Given the description of an element on the screen output the (x, y) to click on. 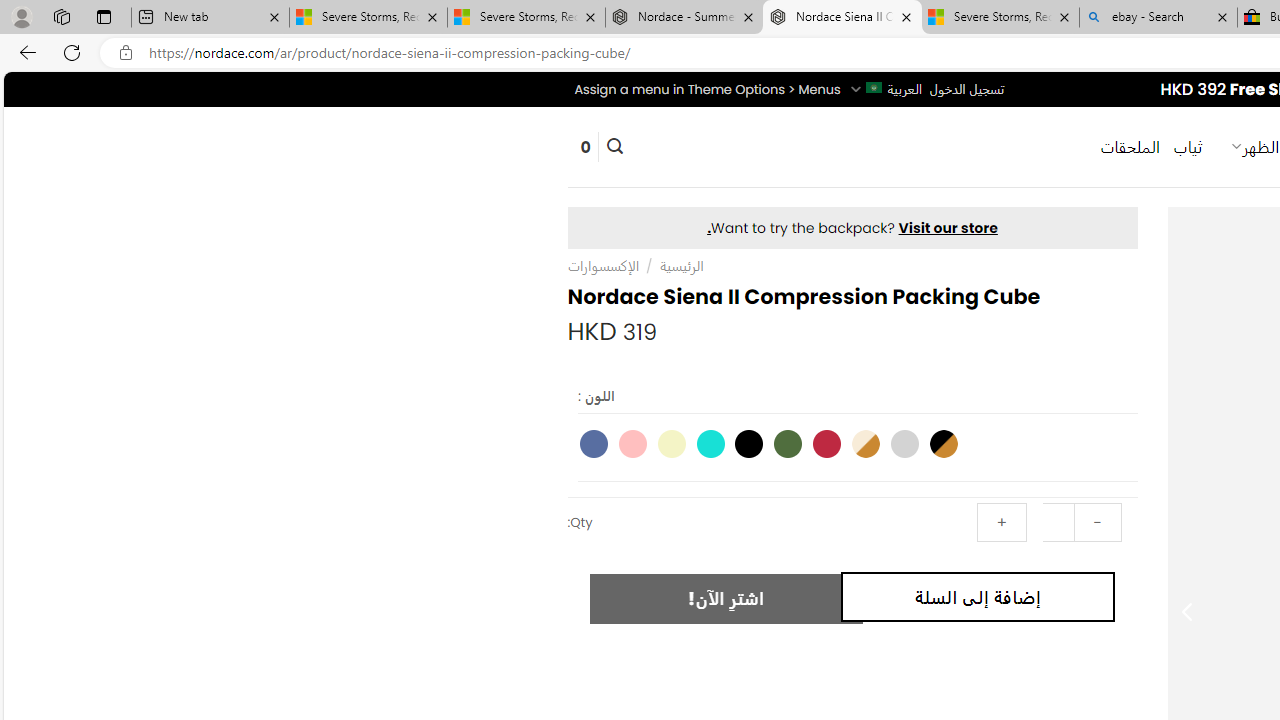
Nordace Siena II Compression Packing Cube (842, 17)
Nordace - Summer Adventures 2024 (683, 17)
Assign a menu in Theme Options > Menus (706, 89)
Back (24, 52)
+ (1001, 521)
Personal Profile (21, 16)
ebay - Search (1158, 17)
